Given the description of an element on the screen output the (x, y) to click on. 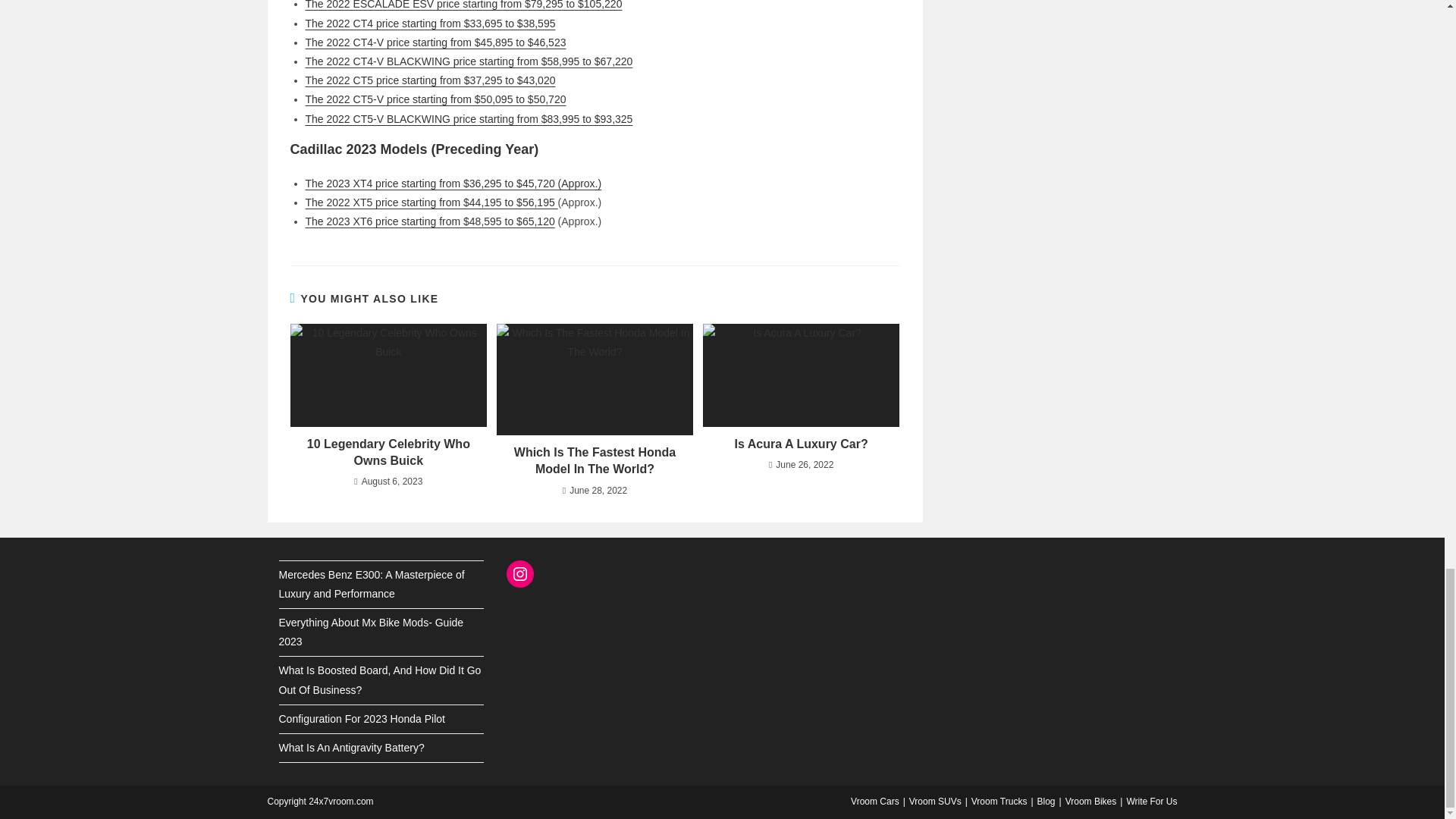
10 Legendary Celebrity Who Owns Buick (387, 452)
